Given the description of an element on the screen output the (x, y) to click on. 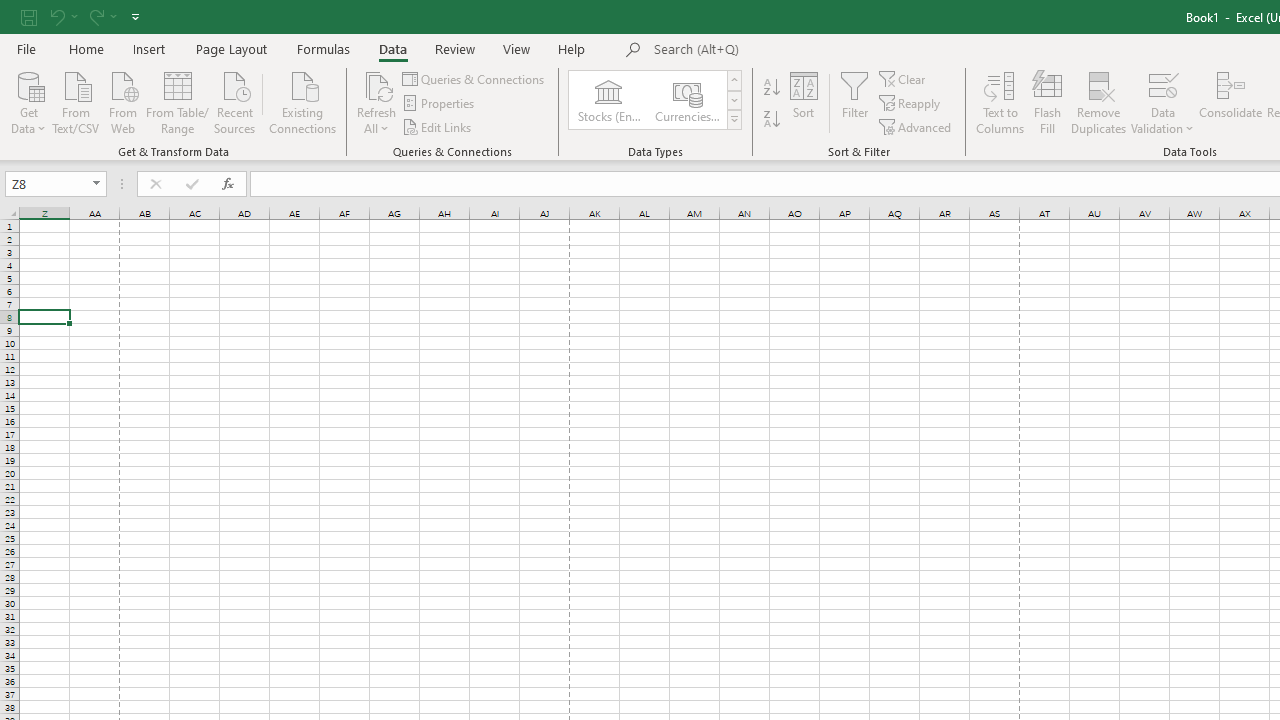
Sort... (804, 102)
Text to Columns... (1000, 102)
Sort Z to A (772, 119)
AutomationID: ConvertToLinkedEntity (655, 99)
Advanced... (916, 126)
